Given the description of an element on the screen output the (x, y) to click on. 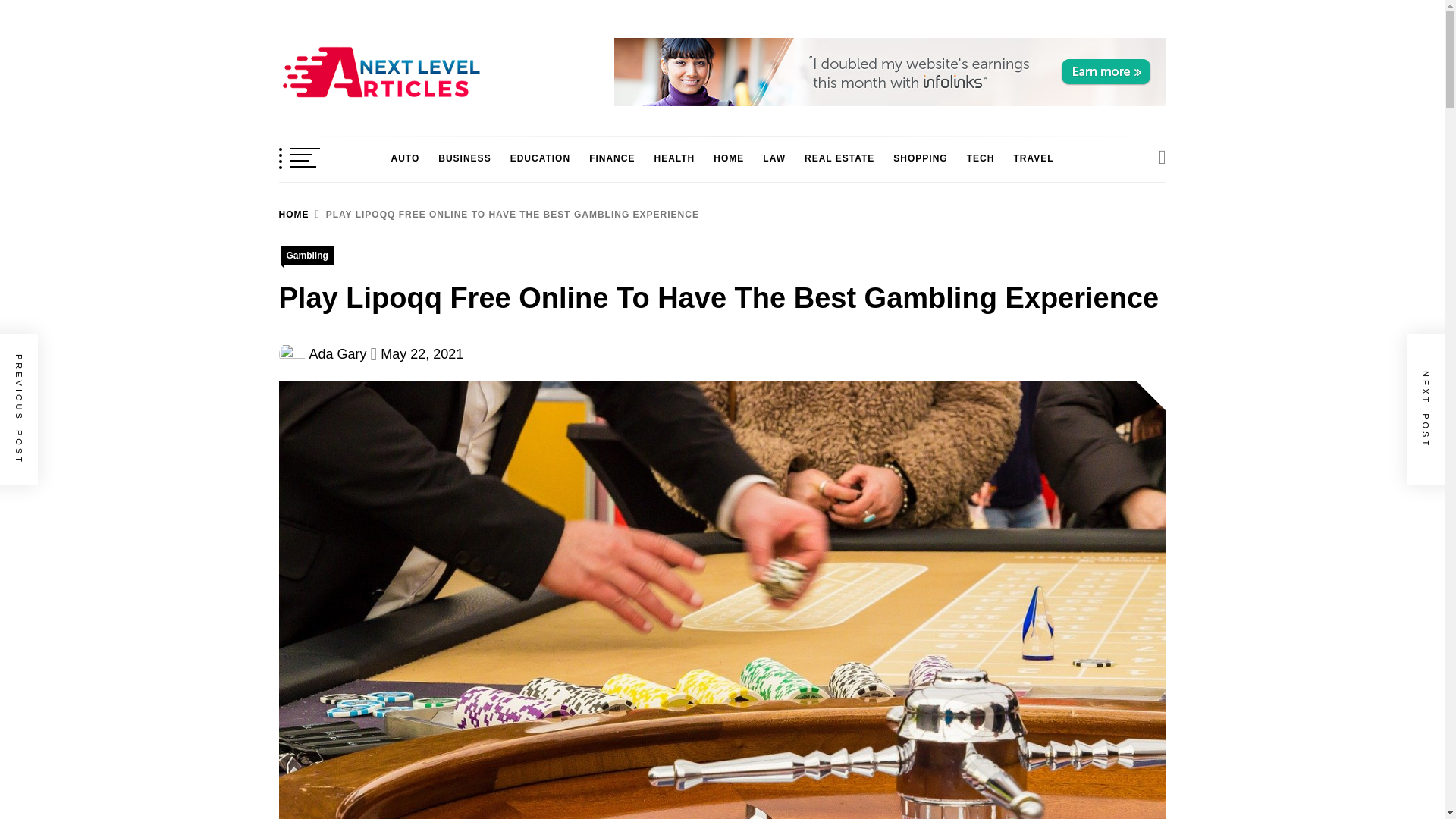
BUSINESS (463, 158)
PLAY LIPOQQ FREE ONLINE TO HAVE THE BEST GAMBLING EXPERIENCE (503, 214)
FINANCE (611, 158)
TECH (981, 158)
LAW (774, 158)
Gambling (307, 255)
AUTO (404, 158)
HOME (293, 214)
REAL ESTATE (839, 158)
EDUCATION (540, 158)
Header Advertise (890, 71)
HEALTH (673, 158)
SHOPPING (920, 158)
May 22, 2021 (421, 353)
Ada Gary (337, 353)
